Given the description of an element on the screen output the (x, y) to click on. 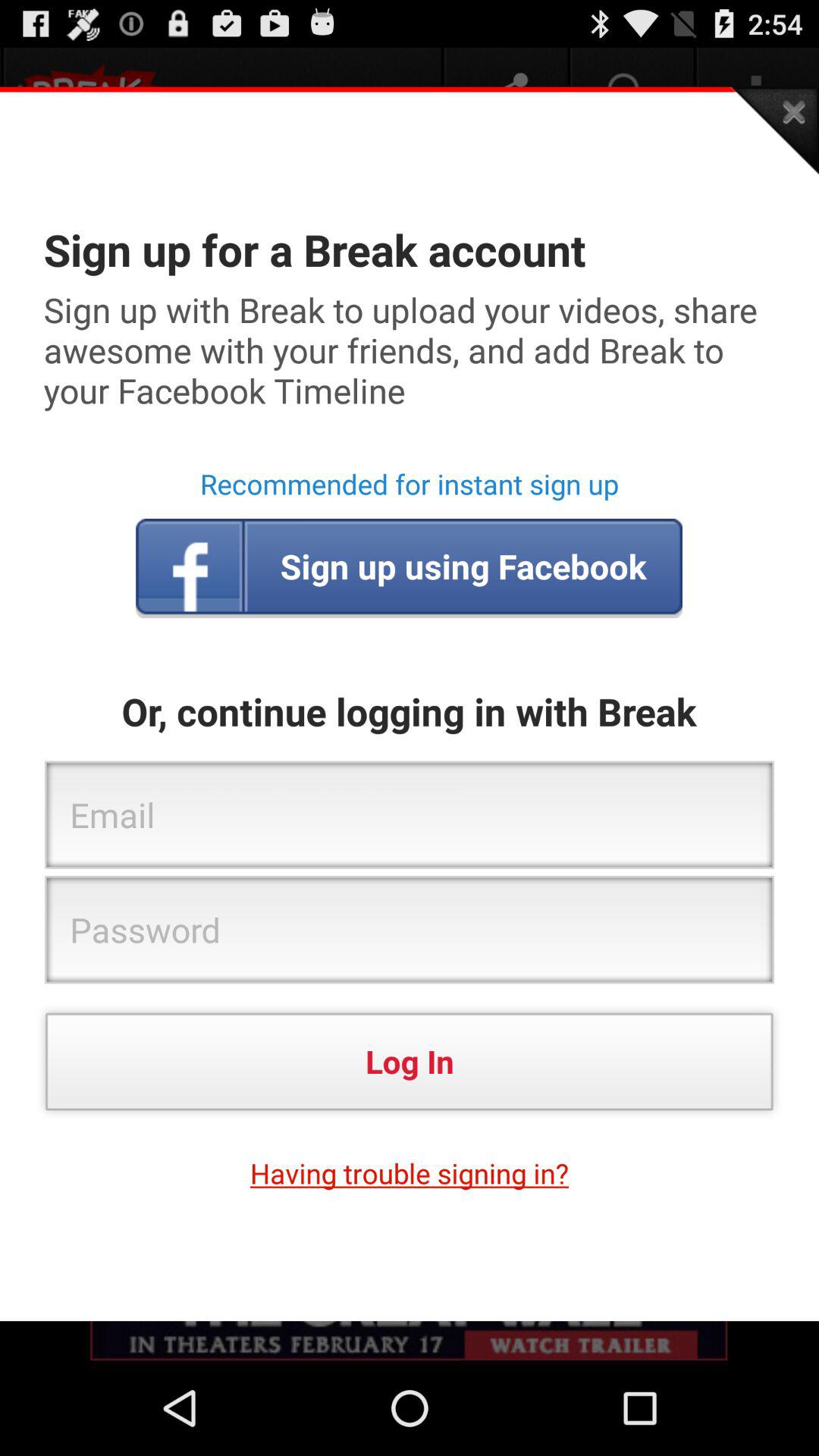
turn on the having trouble signing app (409, 1172)
